Given the description of an element on the screen output the (x, y) to click on. 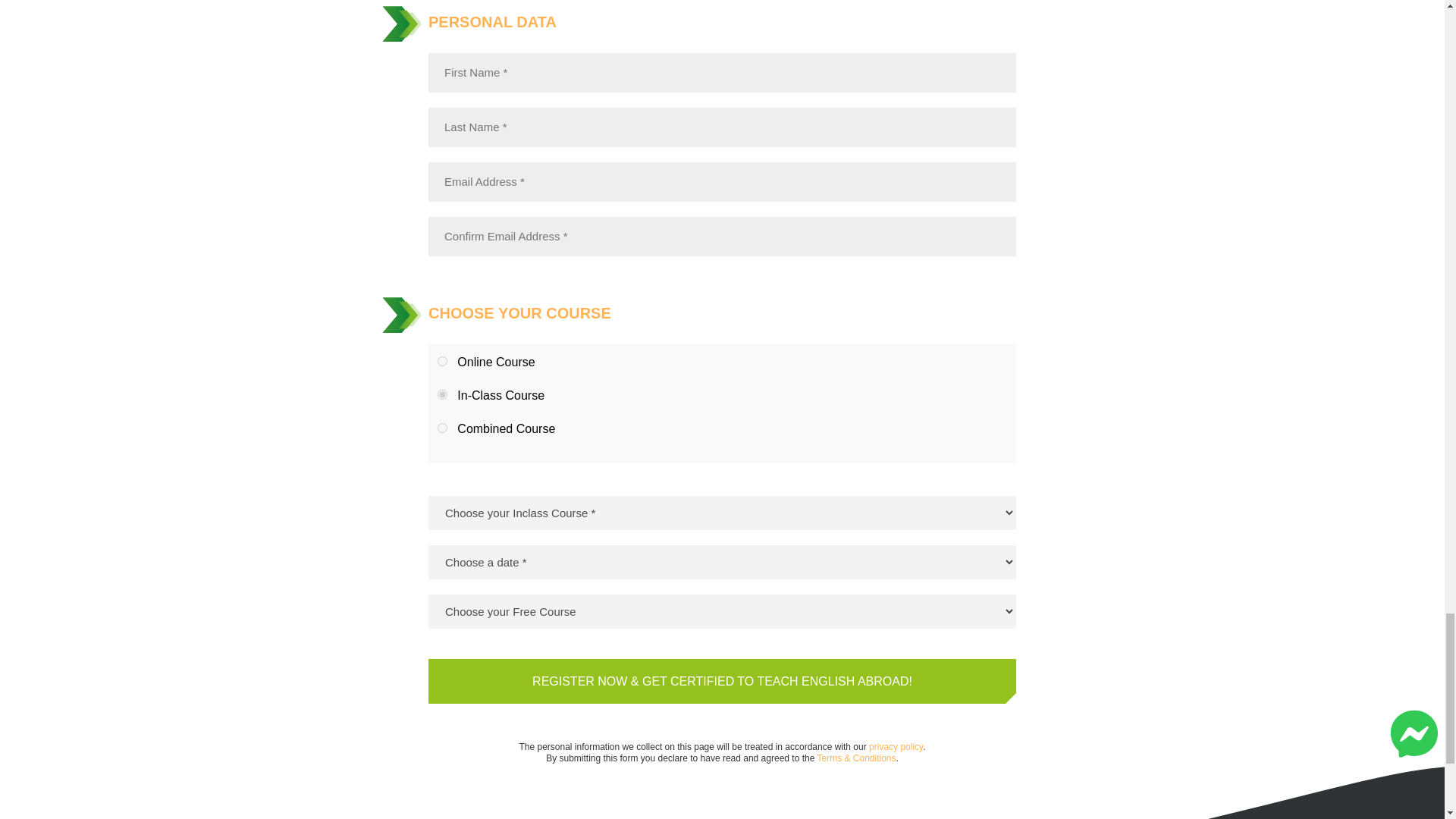
Combined Course (442, 428)
Online Course (442, 361)
Intensive Course (442, 394)
